Given the description of an element on the screen output the (x, y) to click on. 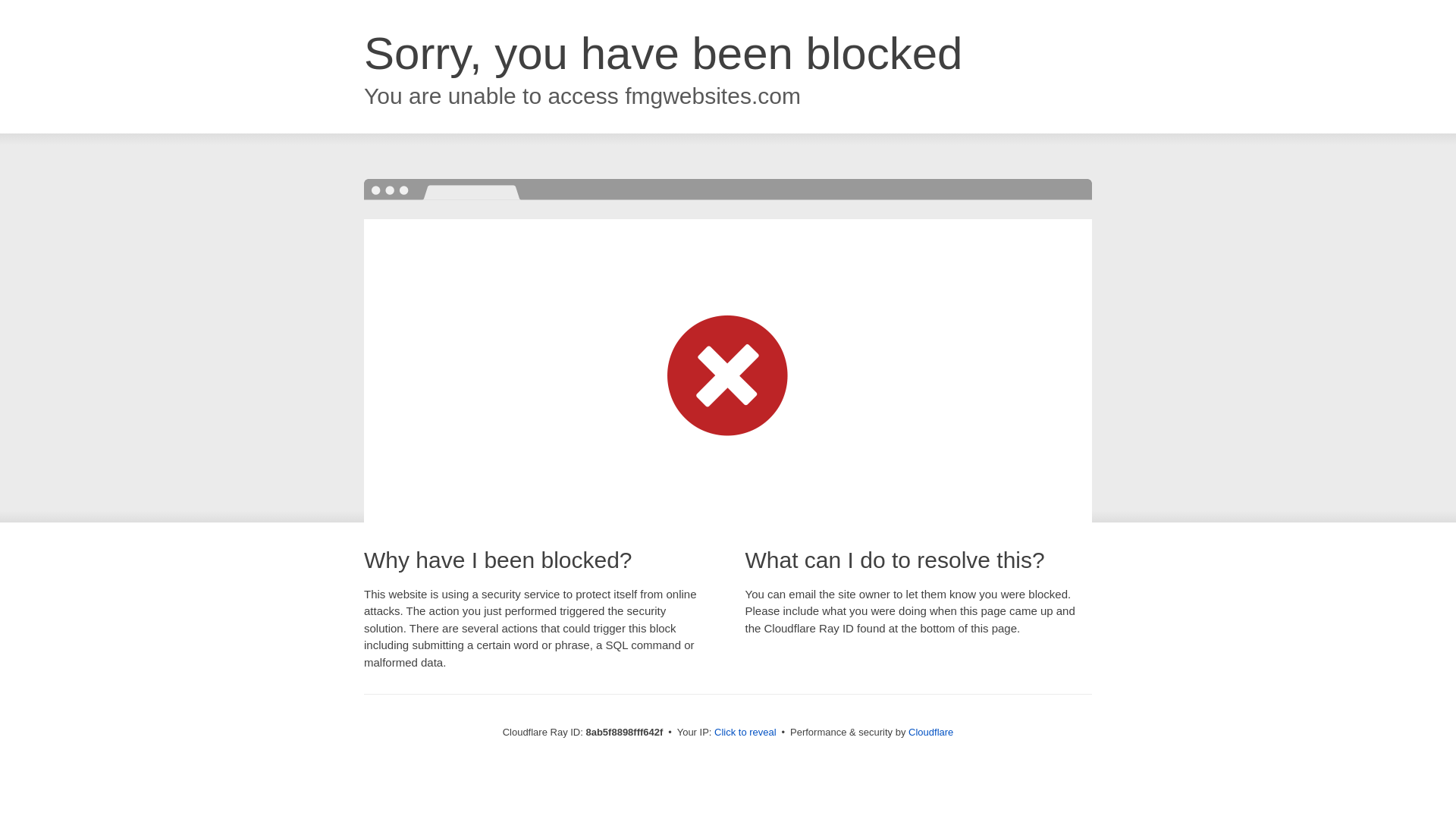
Cloudflare (930, 731)
Click to reveal (745, 732)
